Given the description of an element on the screen output the (x, y) to click on. 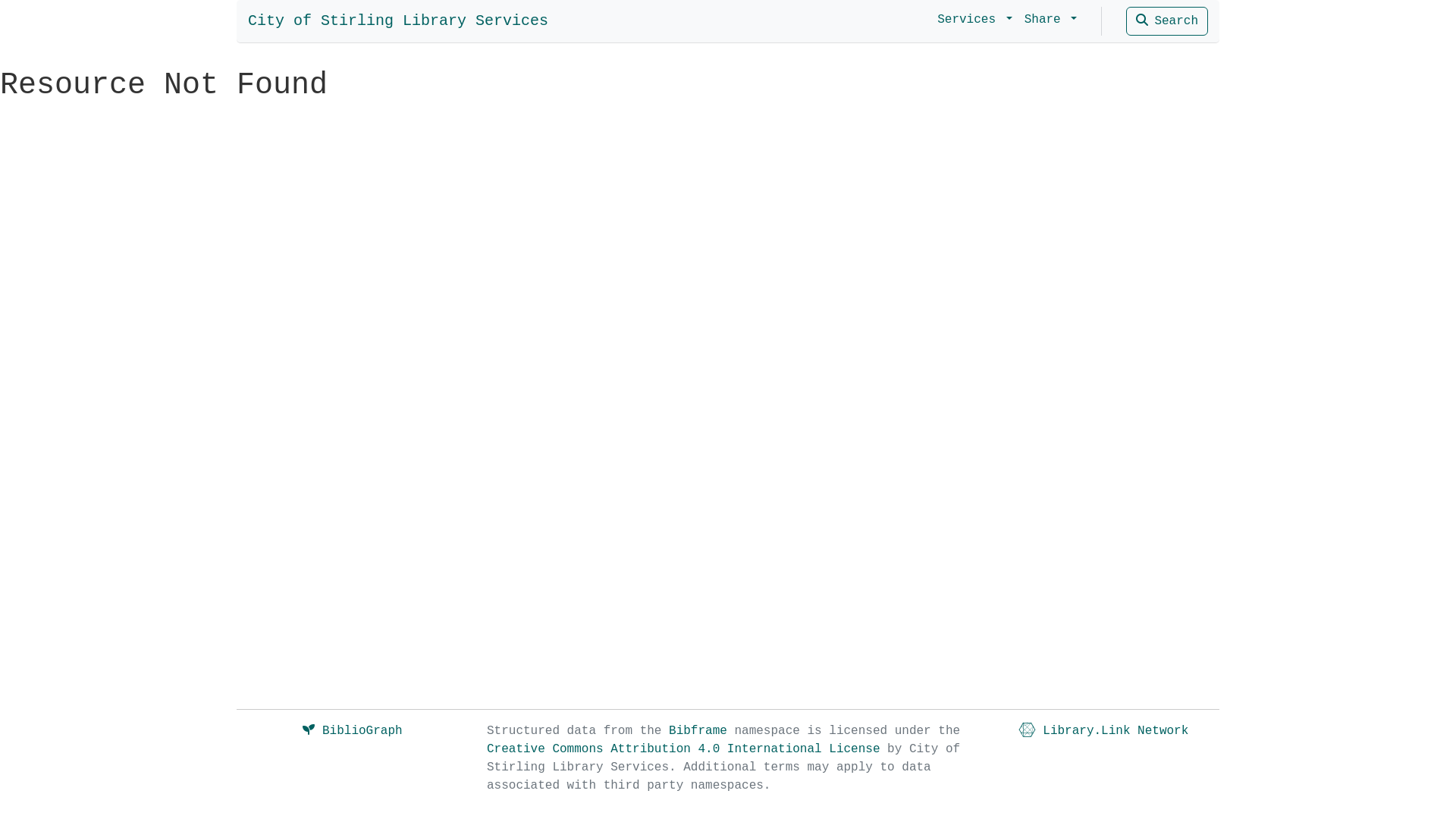
Library.Link Network Element type: text (1103, 730)
Creative Commons Attribution 4.0 International License Element type: text (682, 749)
BiblioGraph Element type: text (351, 730)
Bibframe Element type: text (697, 730)
Services Element type: text (974, 19)
Search Element type: text (1167, 20)
Share Element type: text (1050, 19)
City of Stirling Library Services Element type: text (397, 21)
